Given the description of an element on the screen output the (x, y) to click on. 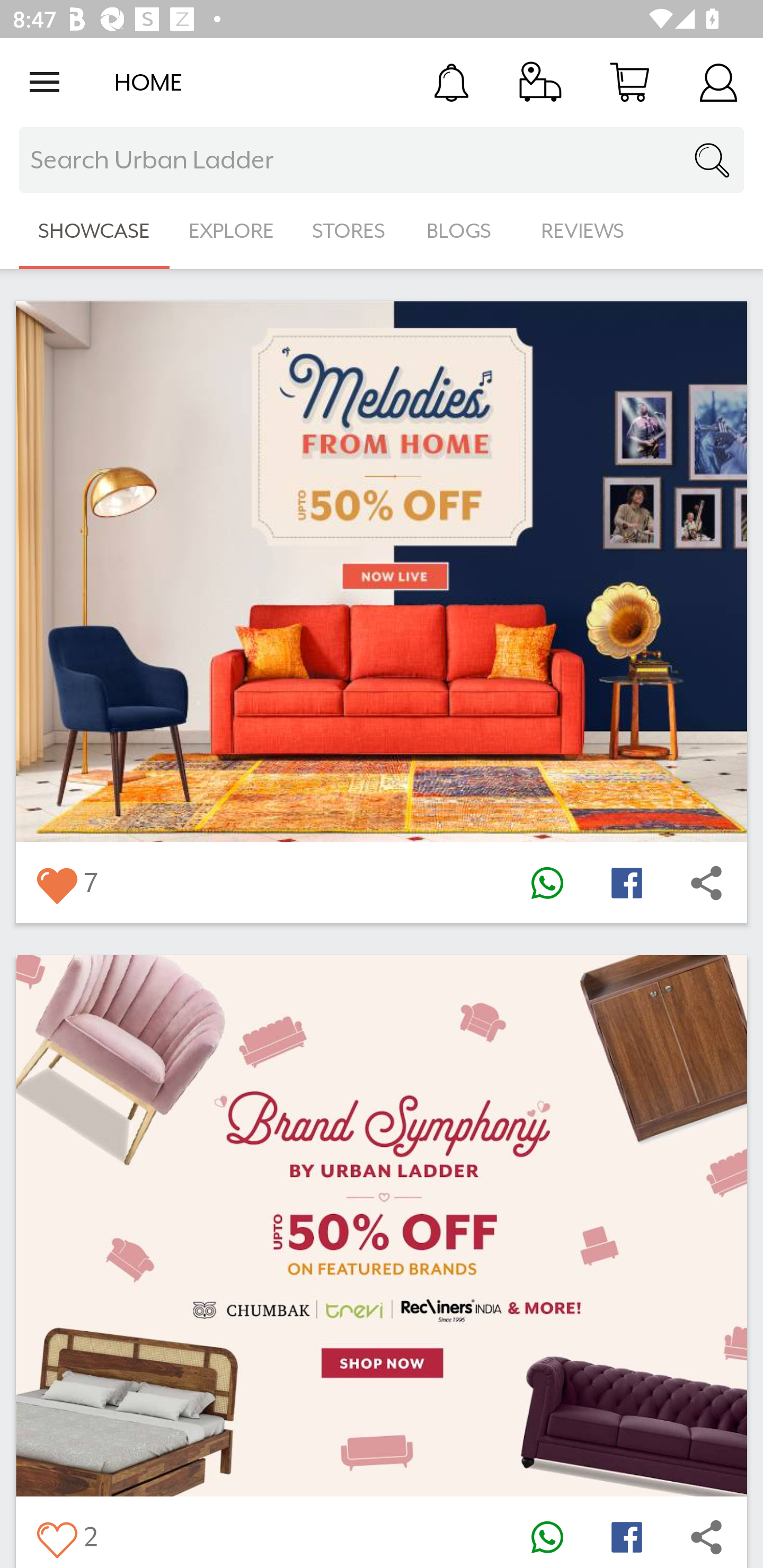
Open navigation drawer (44, 82)
Notification (450, 81)
Track Order (540, 81)
Cart (629, 81)
Account Details (718, 81)
Search Urban Ladder  (381, 159)
SHOWCASE (94, 230)
EXPLORE (230, 230)
STORES (349, 230)
BLOGS (464, 230)
REVIEWS (582, 230)
 (55, 882)
 (547, 882)
 (626, 882)
 (706, 882)
 (55, 1536)
 (547, 1536)
 (626, 1536)
 (706, 1536)
